Given the description of an element on the screen output the (x, y) to click on. 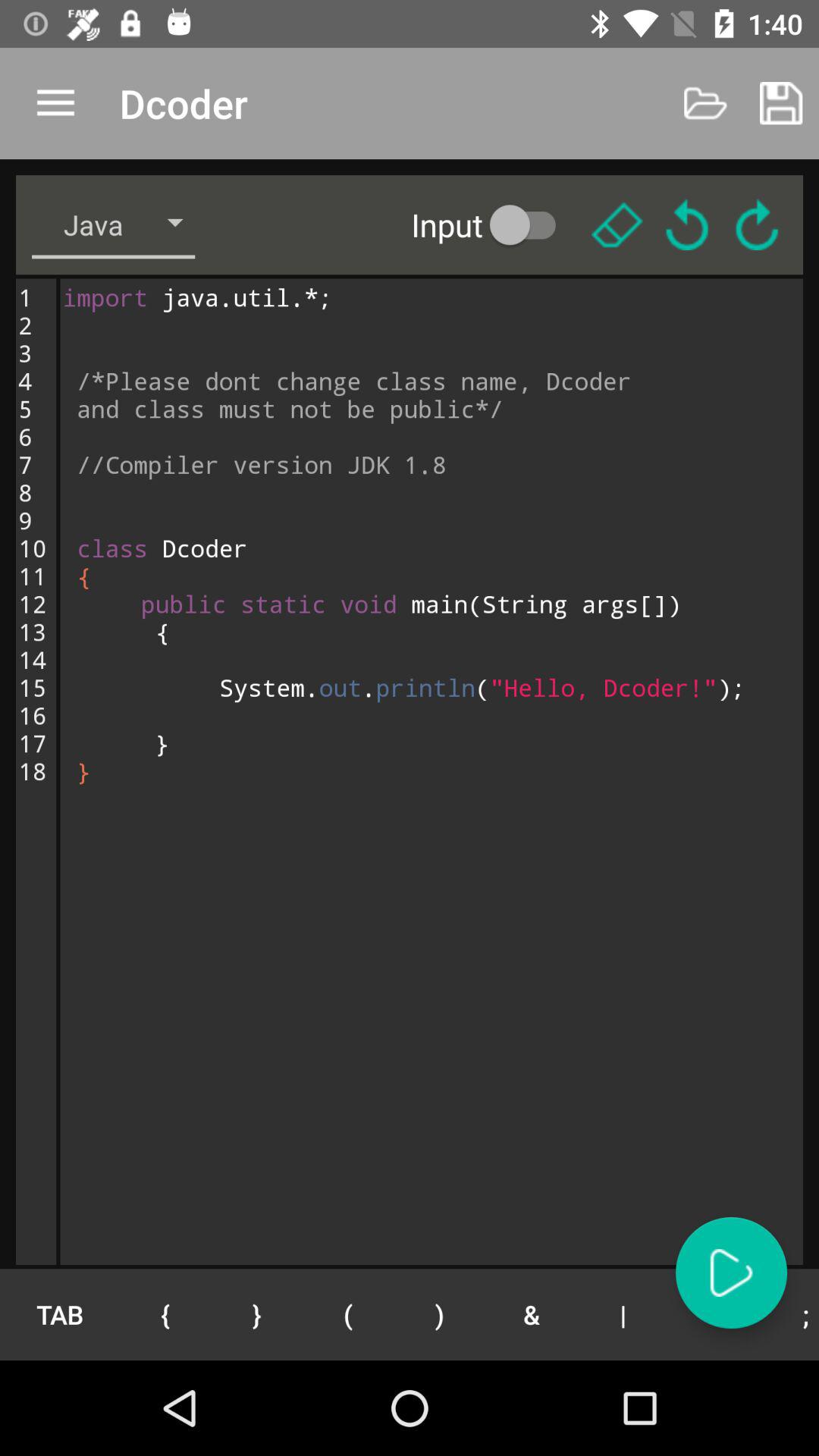
flip until the tab item (59, 1314)
